Given the description of an element on the screen output the (x, y) to click on. 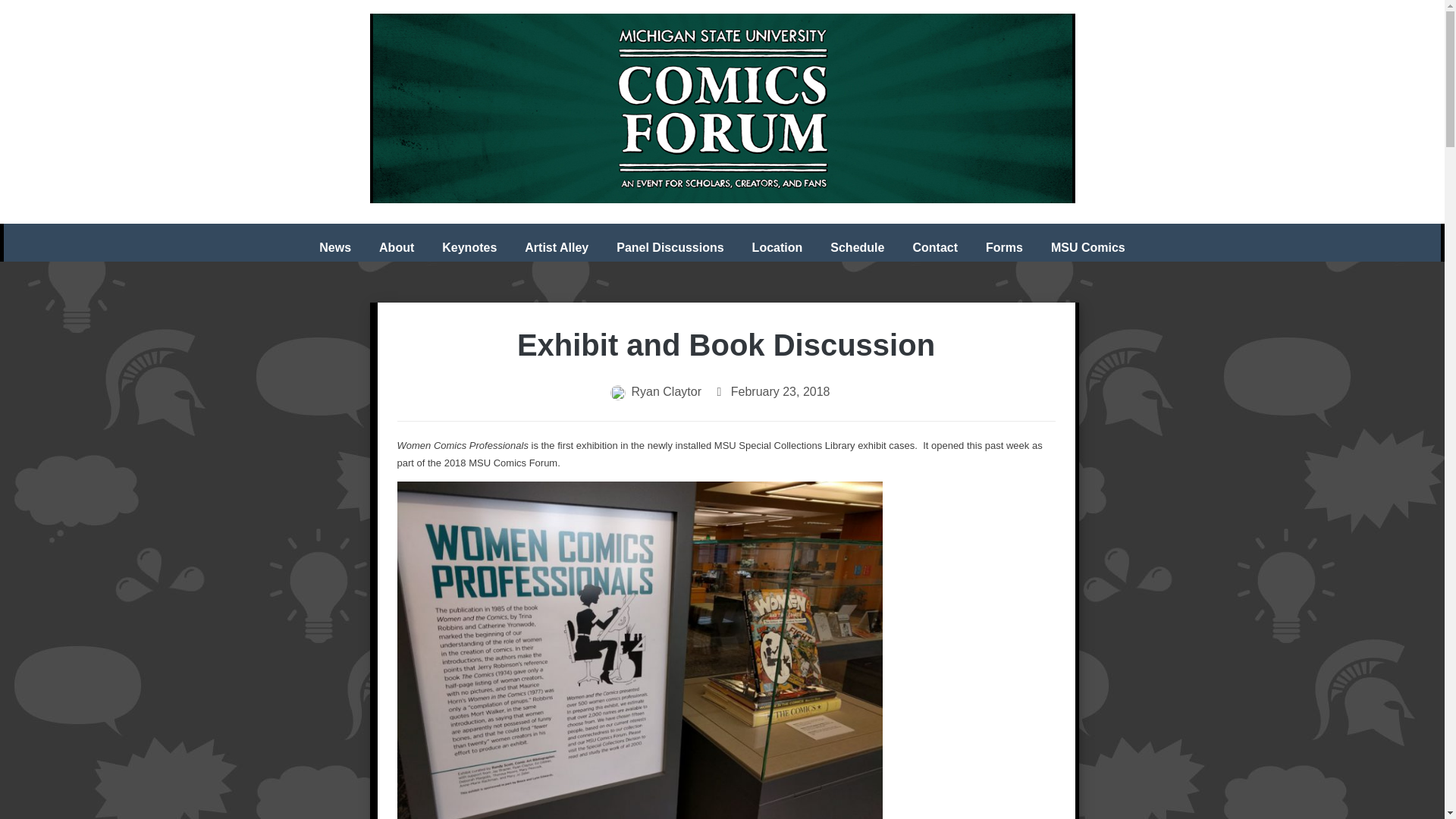
Artist Alley (555, 242)
MSU Comics (1088, 242)
Schedule (857, 242)
Forms (1004, 242)
Keynotes (468, 242)
Contact (934, 242)
Ryan Claytor (665, 391)
MSU Comics Forum (722, 108)
Panel Discussions (669, 242)
February 23, 2018 (779, 391)
About (396, 242)
Location (777, 242)
News (334, 242)
